Given the description of an element on the screen output the (x, y) to click on. 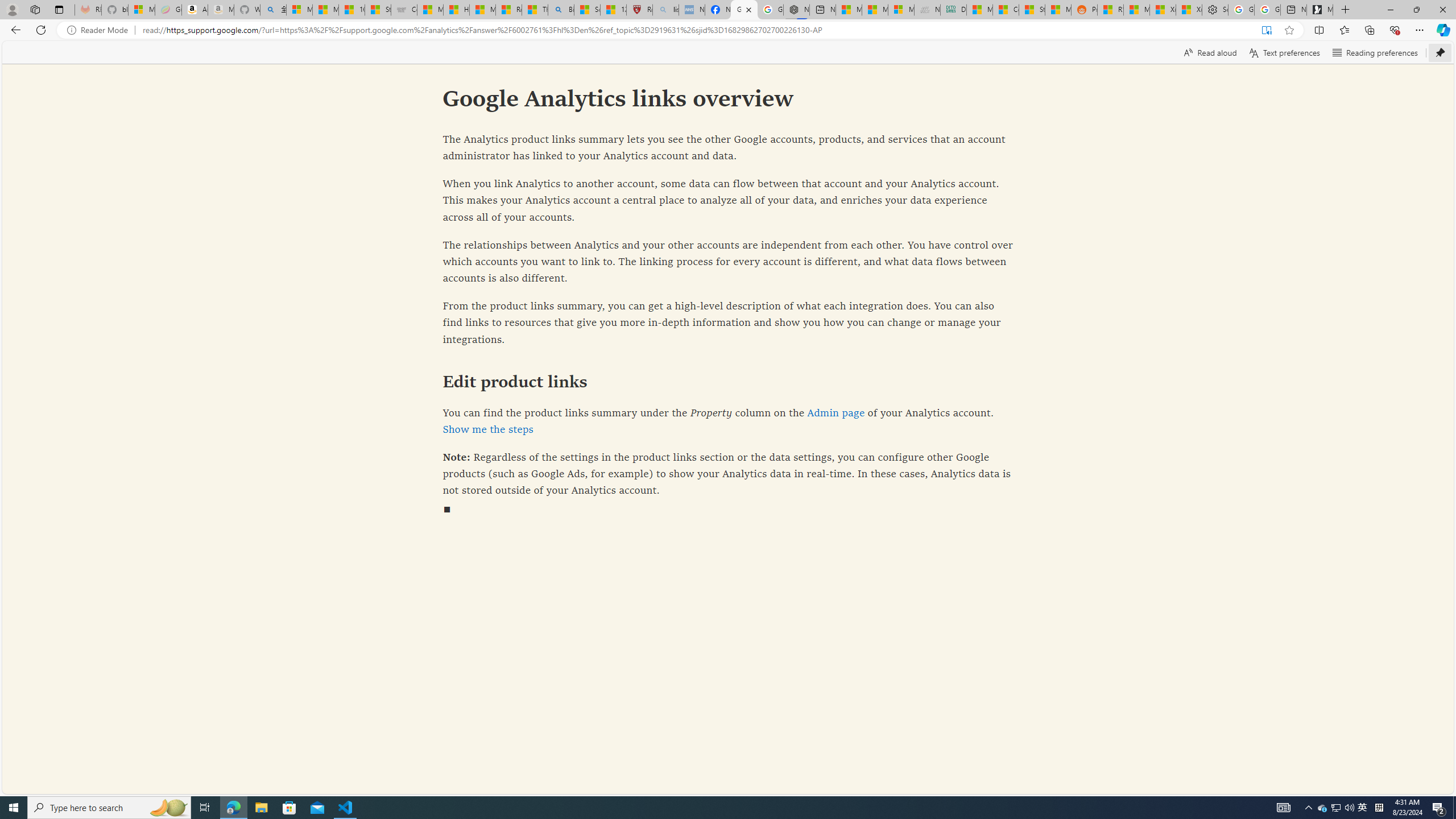
Recipes - MSN (508, 9)
Google Analytics links overview (743, 9)
Read aloud (1209, 52)
